Given the description of an element on the screen output the (x, y) to click on. 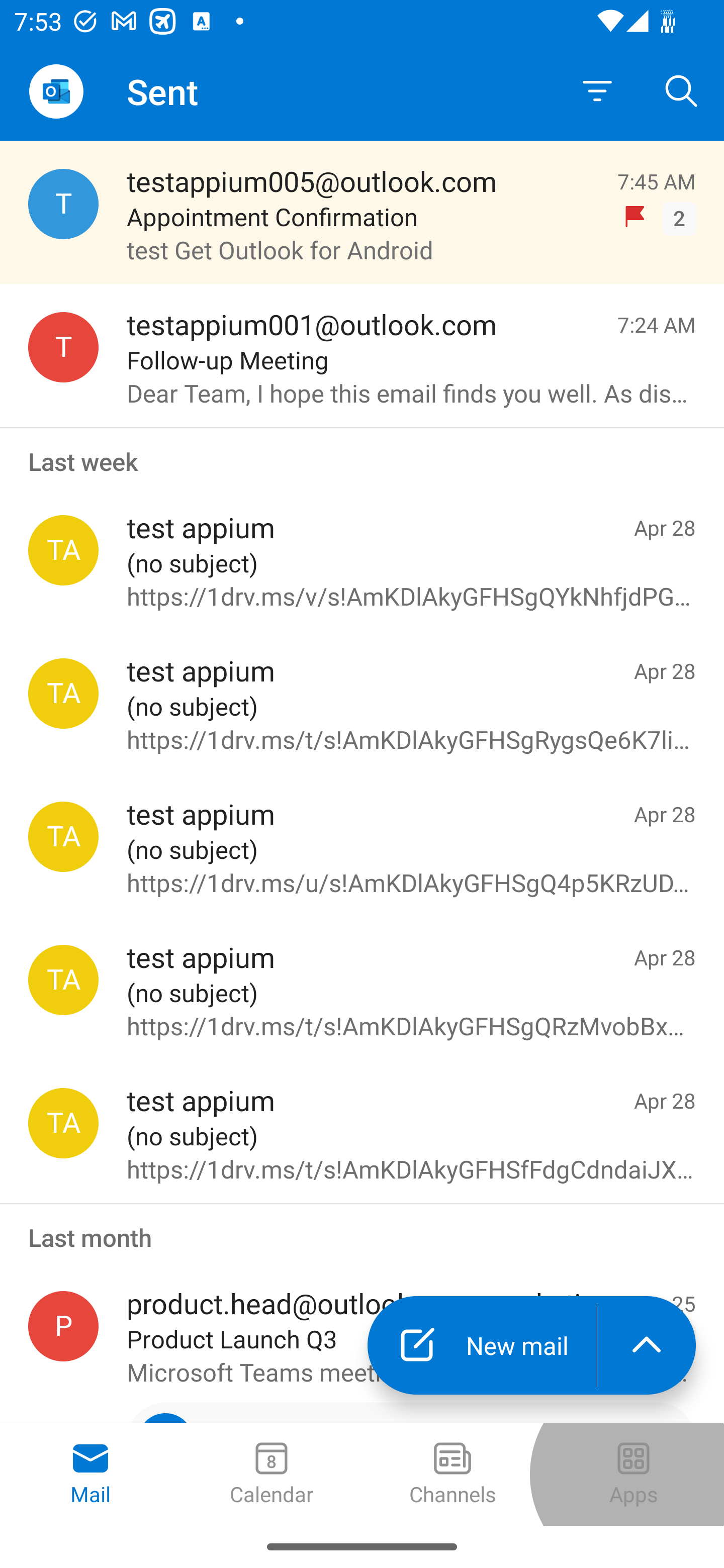
Search, ,  (681, 90)
Open Navigation Drawer (55, 91)
Filter (597, 91)
test appium, testappium002@gmail.com (63, 549)
test appium, testappium002@gmail.com (63, 693)
test appium, testappium002@gmail.com (63, 836)
test appium, testappium002@gmail.com (63, 979)
test appium, testappium002@gmail.com (63, 1123)
product.head@outlook.com, product.head@outlook.com (63, 1325)
New mail (481, 1344)
launch the extended action menu (646, 1344)
Calendar (271, 1474)
Channels (452, 1474)
Apps (633, 1474)
